Given the description of an element on the screen output the (x, y) to click on. 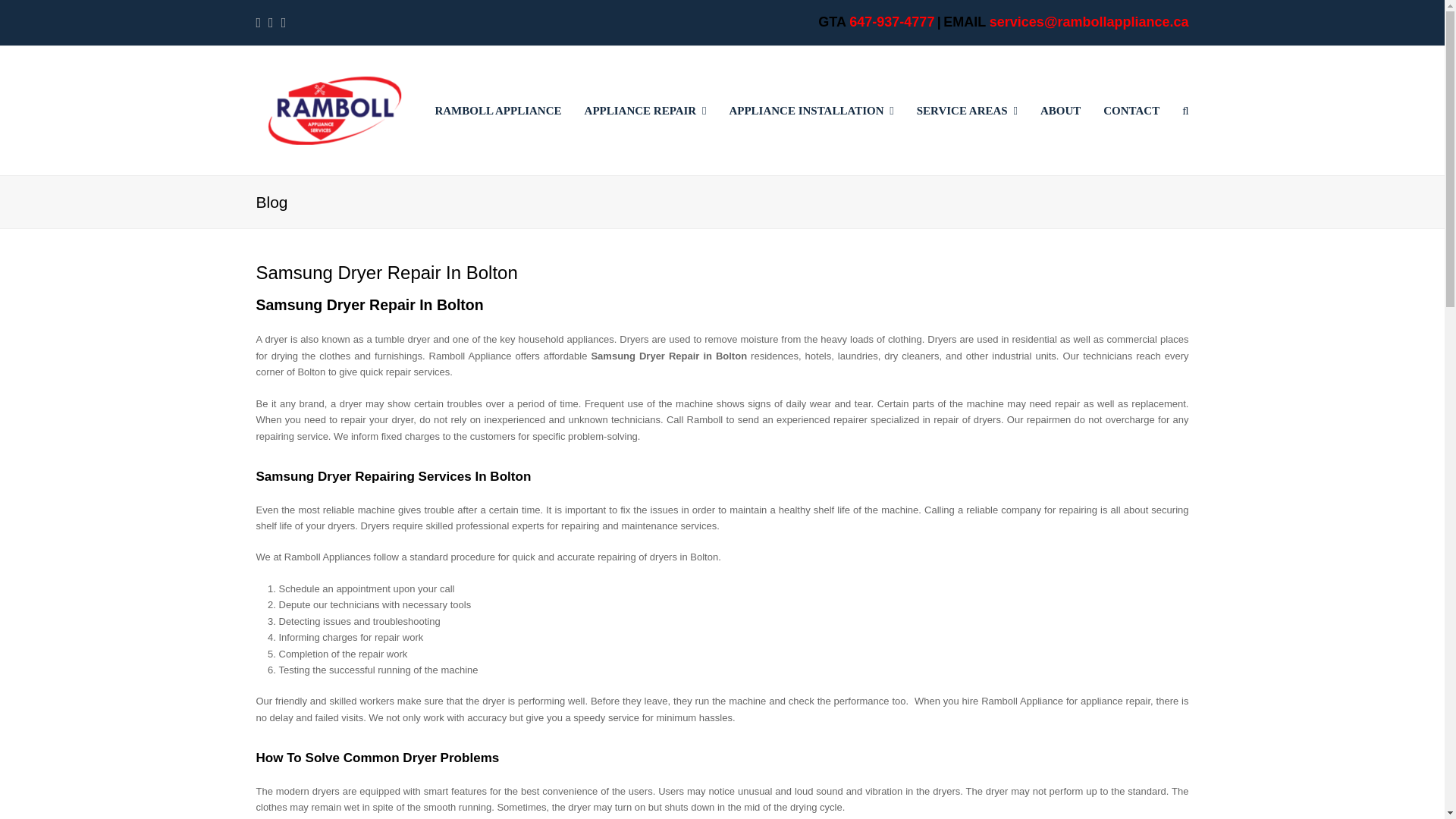
RAMBOLL APPLIANCE (497, 110)
APPLIANCE INSTALLATION (810, 110)
CONTACT (1131, 110)
APPLIANCE REPAIR (645, 110)
SERVICE AREAS (967, 110)
ABOUT (1060, 110)
647-937-4777 (891, 21)
